Given the description of an element on the screen output the (x, y) to click on. 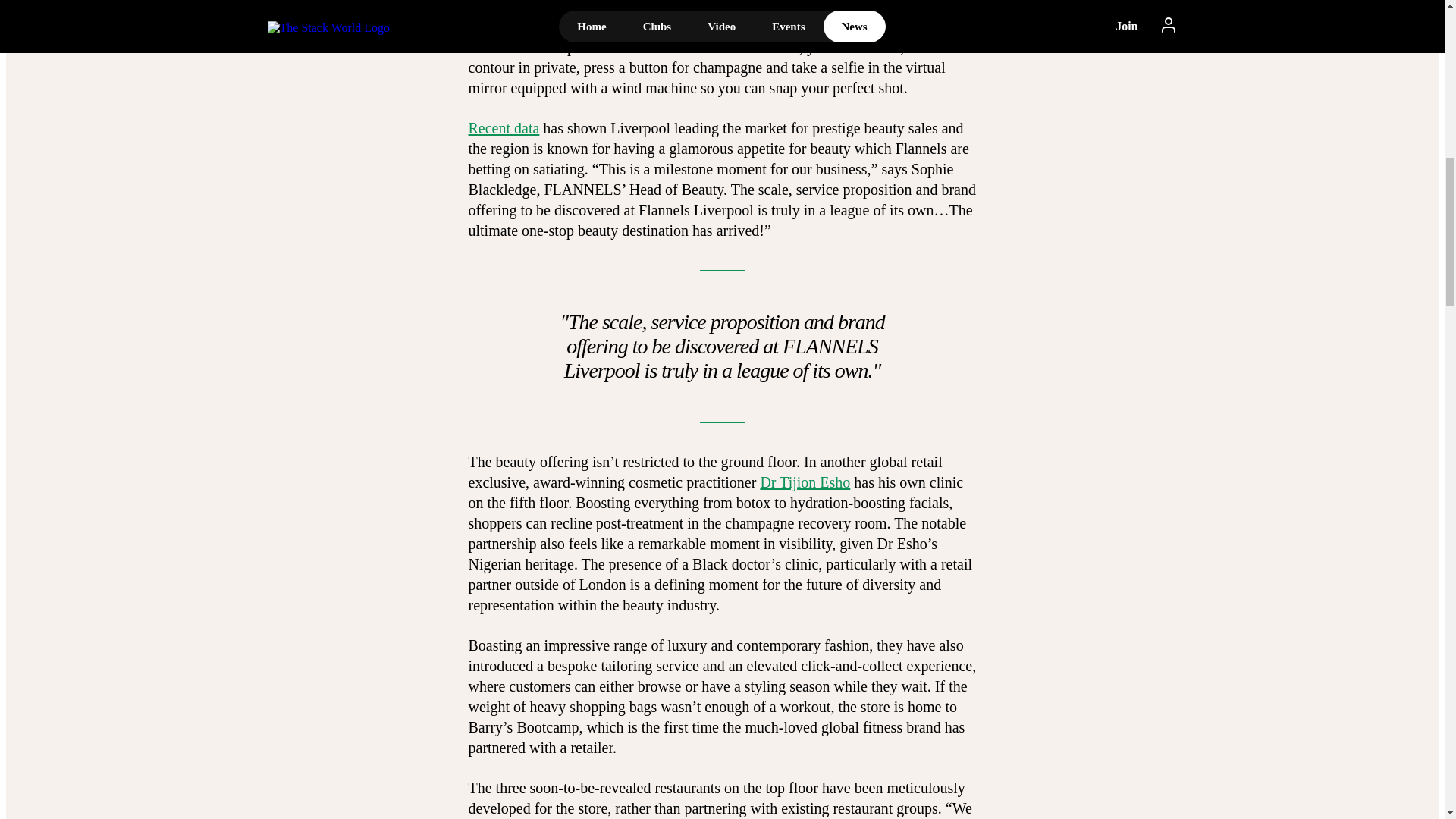
Recent data (504, 127)
Dr Tijion Esho (805, 482)
